Given the description of an element on the screen output the (x, y) to click on. 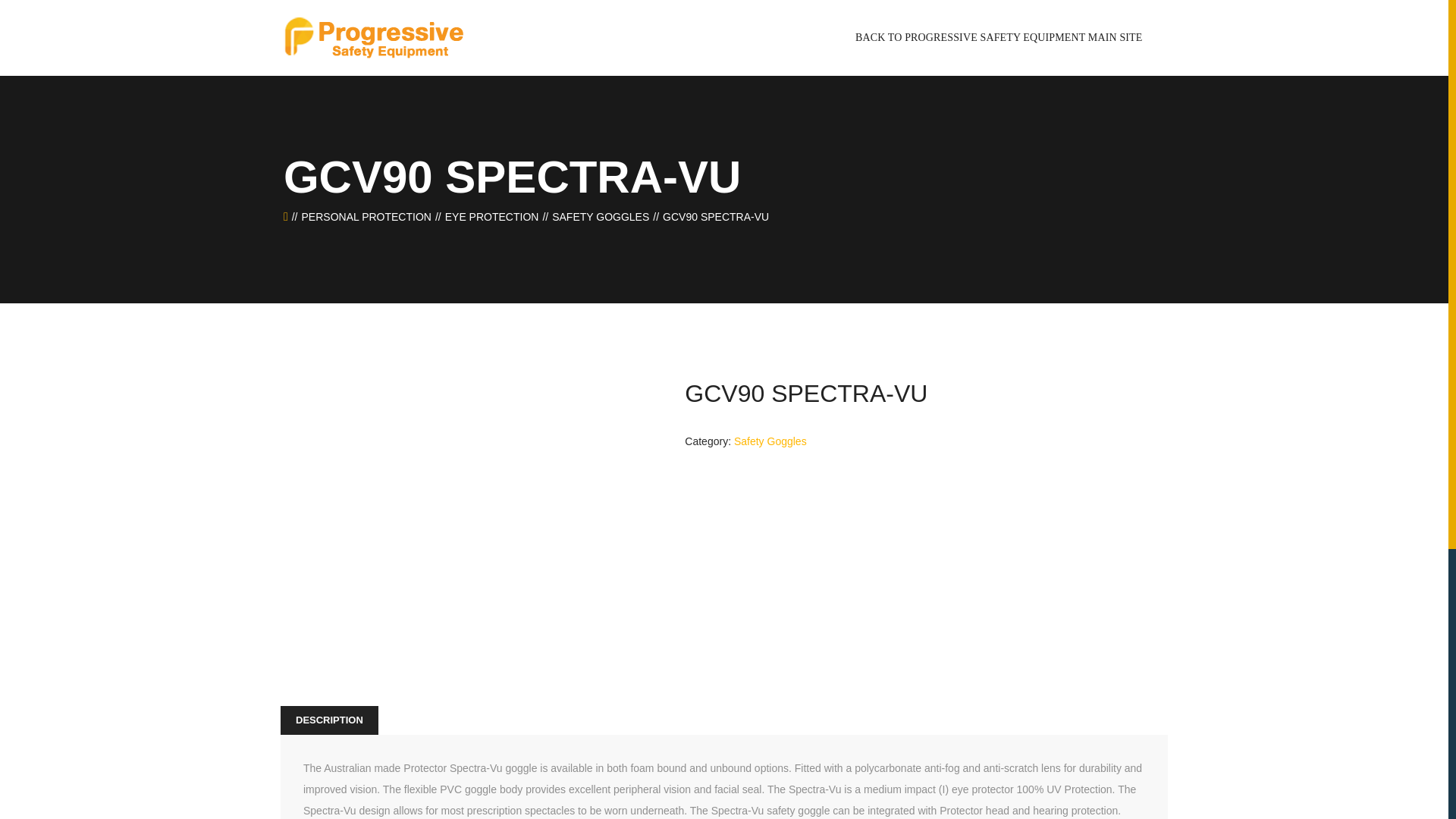
BACK TO PROGRESSIVE SAFETY EQUIPMENT MAIN SITE (999, 38)
Eye Protection (491, 216)
PERSONAL PROTECTION (365, 216)
Progress Safety Equipment Sdn Bhd - Products (373, 37)
SAFETY GOGGLES (600, 216)
EYE PROTECTION (491, 216)
DESCRIPTION (329, 719)
Personal Protection (365, 216)
Safety Goggles (769, 440)
